Given the description of an element on the screen output the (x, y) to click on. 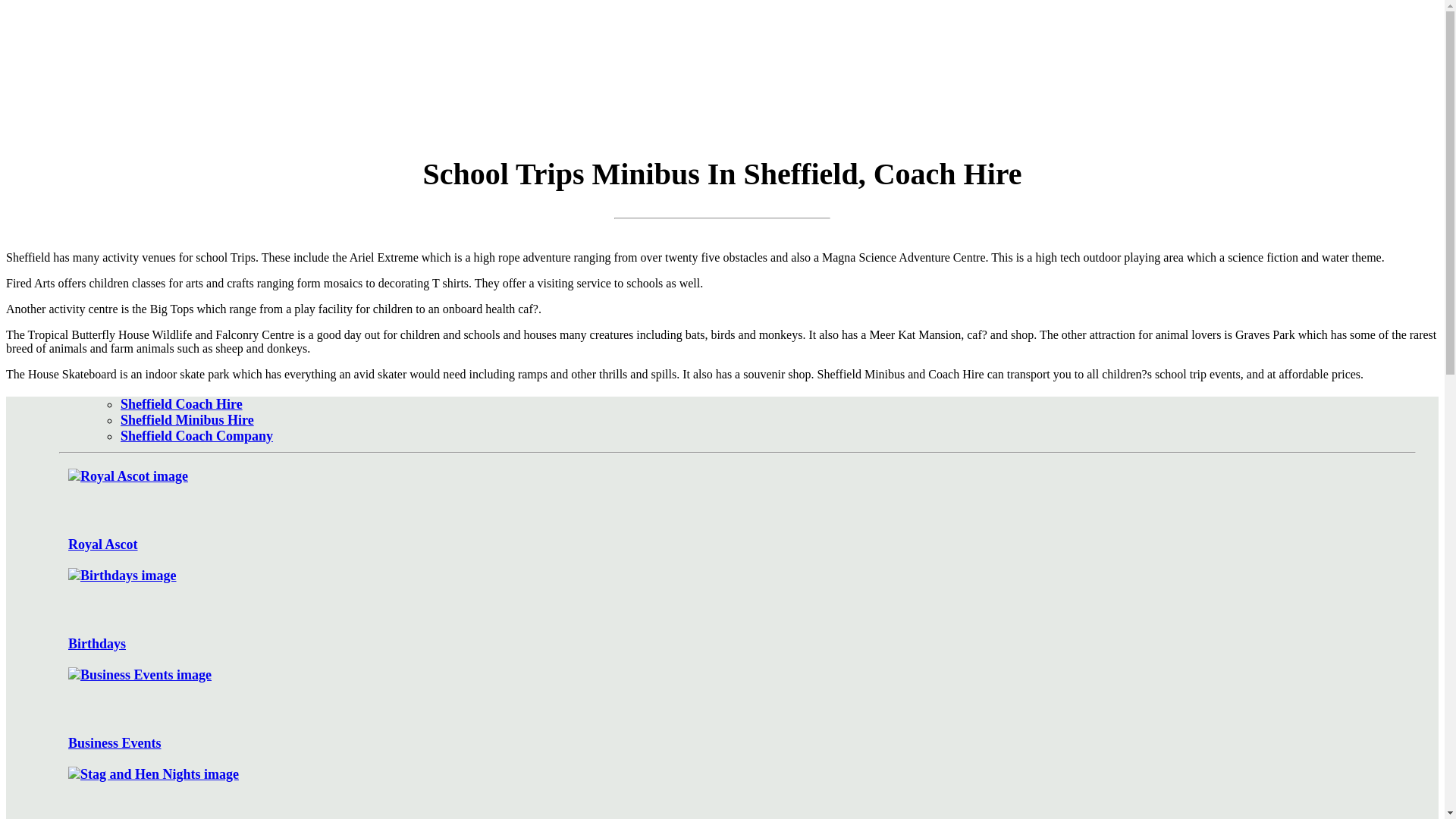
Business Events (737, 709)
Stag and Hen Nights image (153, 774)
Stag and Hen Nights (737, 792)
Business Events image (139, 675)
Sheffield Minibus Hire (186, 419)
Royal Ascot (737, 510)
Sheffield Coach Hire (181, 403)
Birthdays image (122, 575)
Birthdays (737, 609)
Royal Ascot image (127, 476)
Sheffield Coach Company (196, 435)
